Given the description of an element on the screen output the (x, y) to click on. 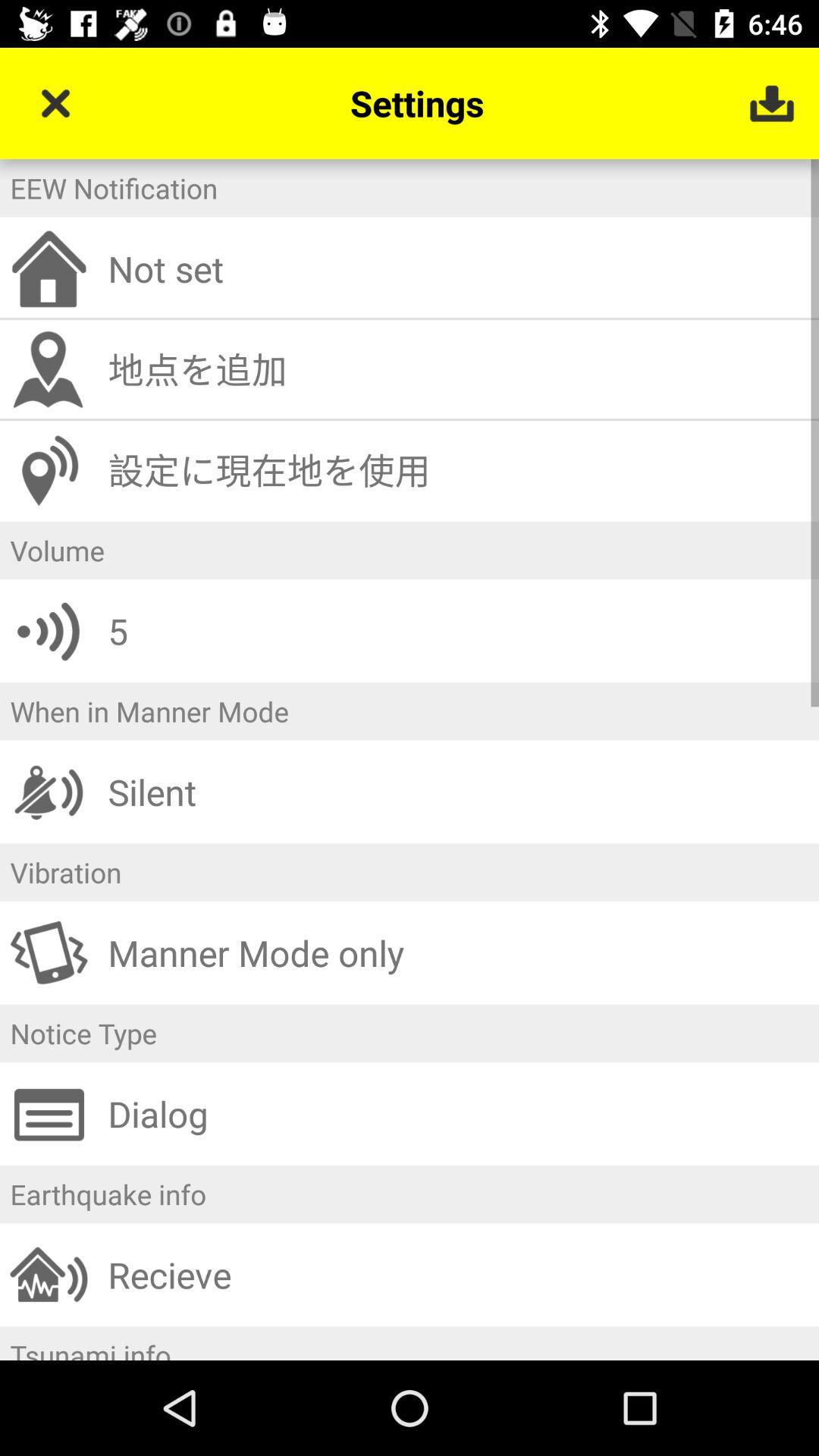
scroll until recieve icon (458, 1274)
